Given the description of an element on the screen output the (x, y) to click on. 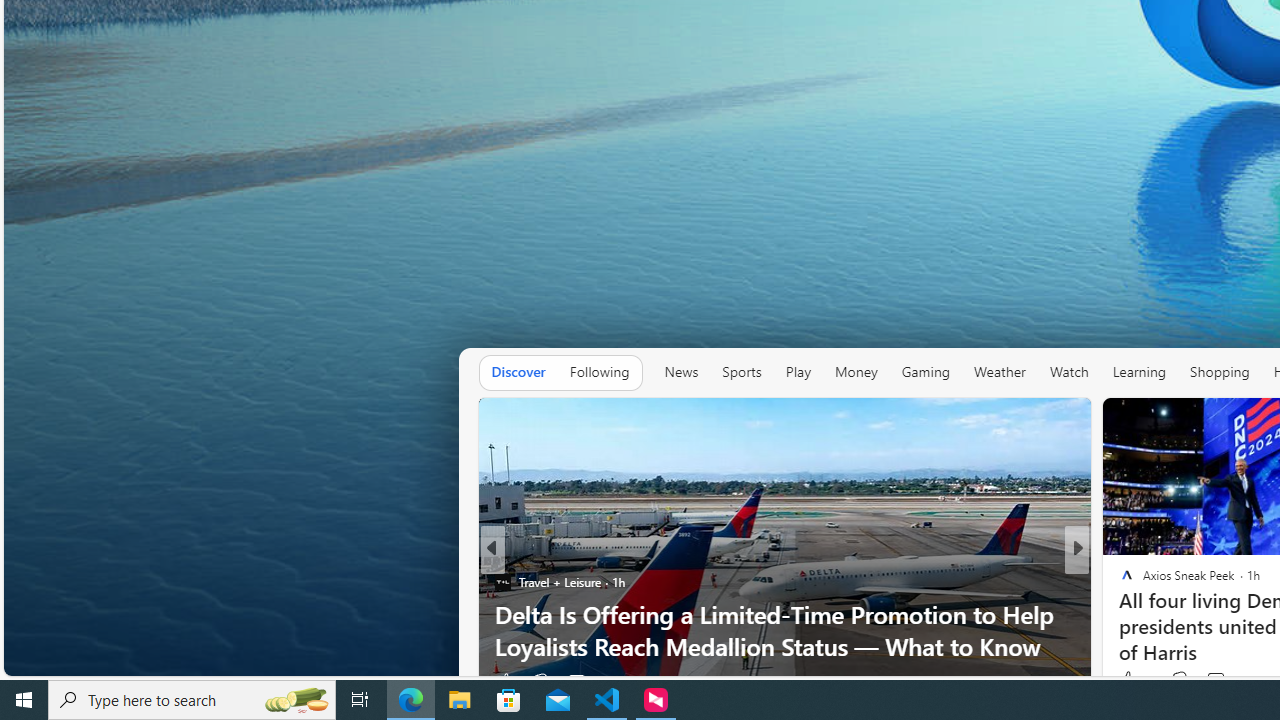
22 Like (1128, 681)
Yardbarker (1117, 581)
View comments 31 Comment (1223, 681)
83 Like (1128, 681)
Shopping (1219, 371)
View comments 18 Comment (1215, 679)
17 Like (1135, 680)
Sports (742, 372)
View comments 18 Comment (1223, 680)
